Given the description of an element on the screen output the (x, y) to click on. 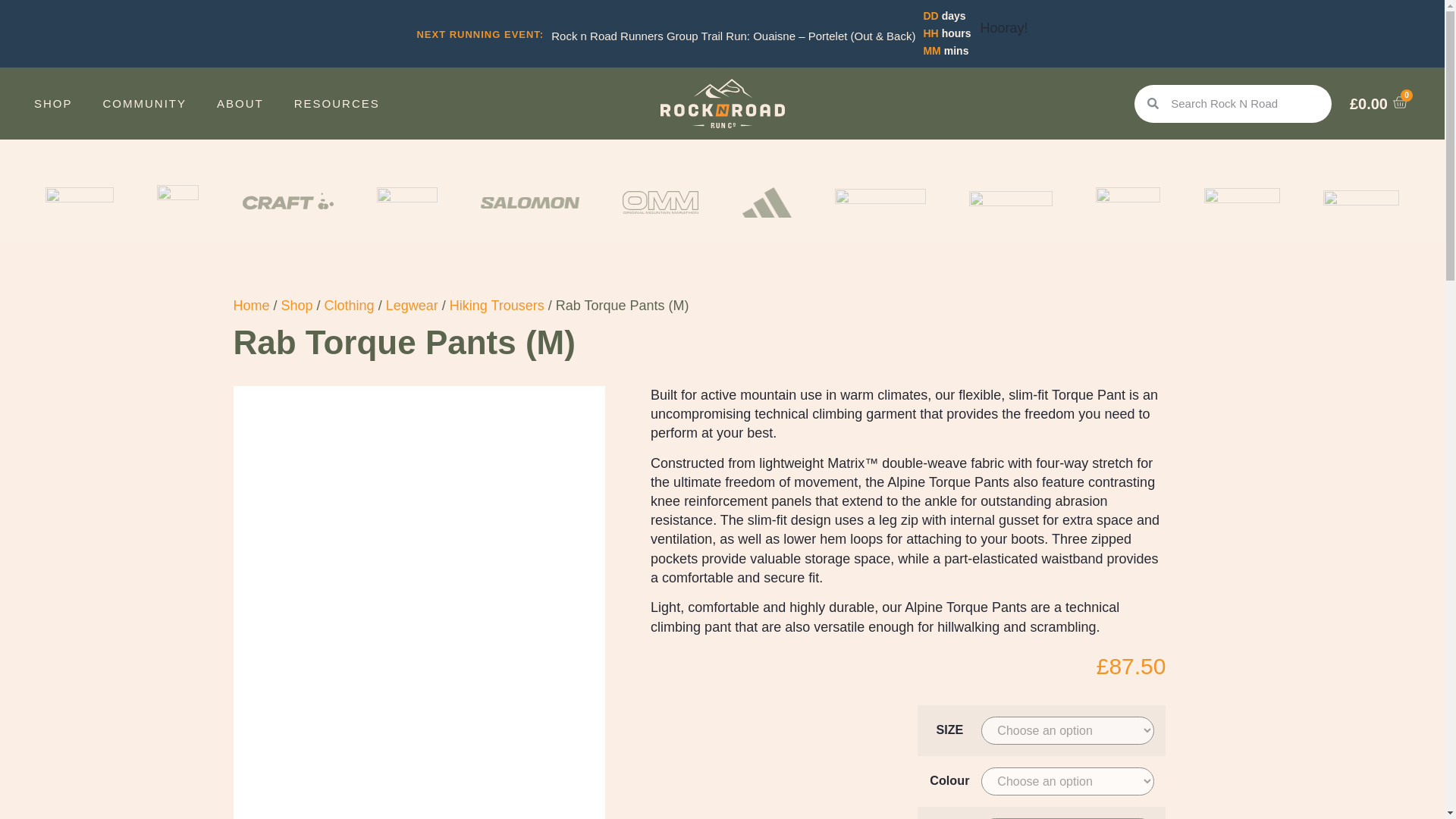
SHOP (52, 103)
